Given the description of an element on the screen output the (x, y) to click on. 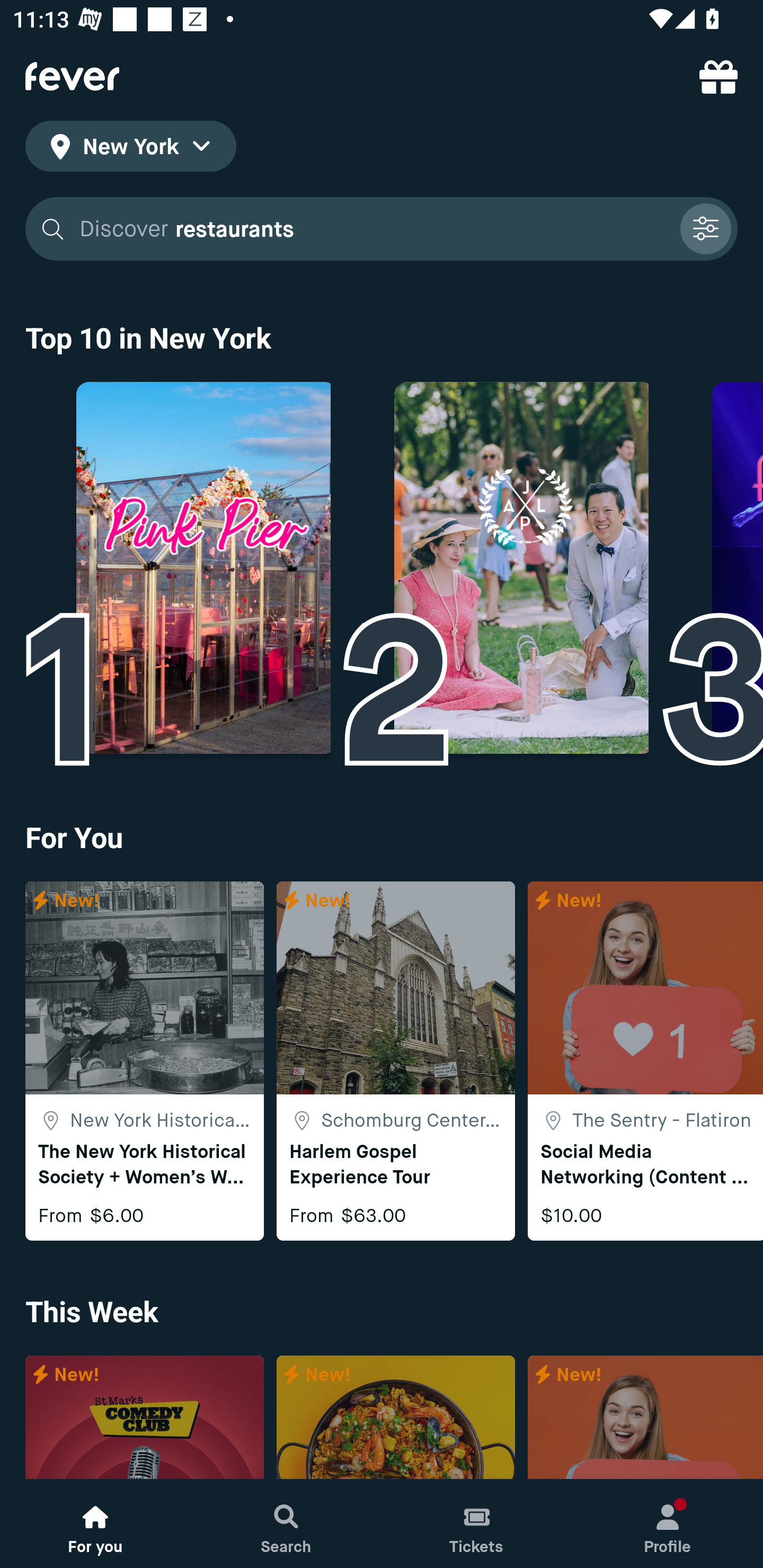
referral (718, 75)
location icon New York location icon (130, 149)
Discover restaurants (381, 228)
Discover restaurants (373, 228)
Search (285, 1523)
Tickets (476, 1523)
Profile, New notification Profile (667, 1523)
